Given the description of an element on the screen output the (x, y) to click on. 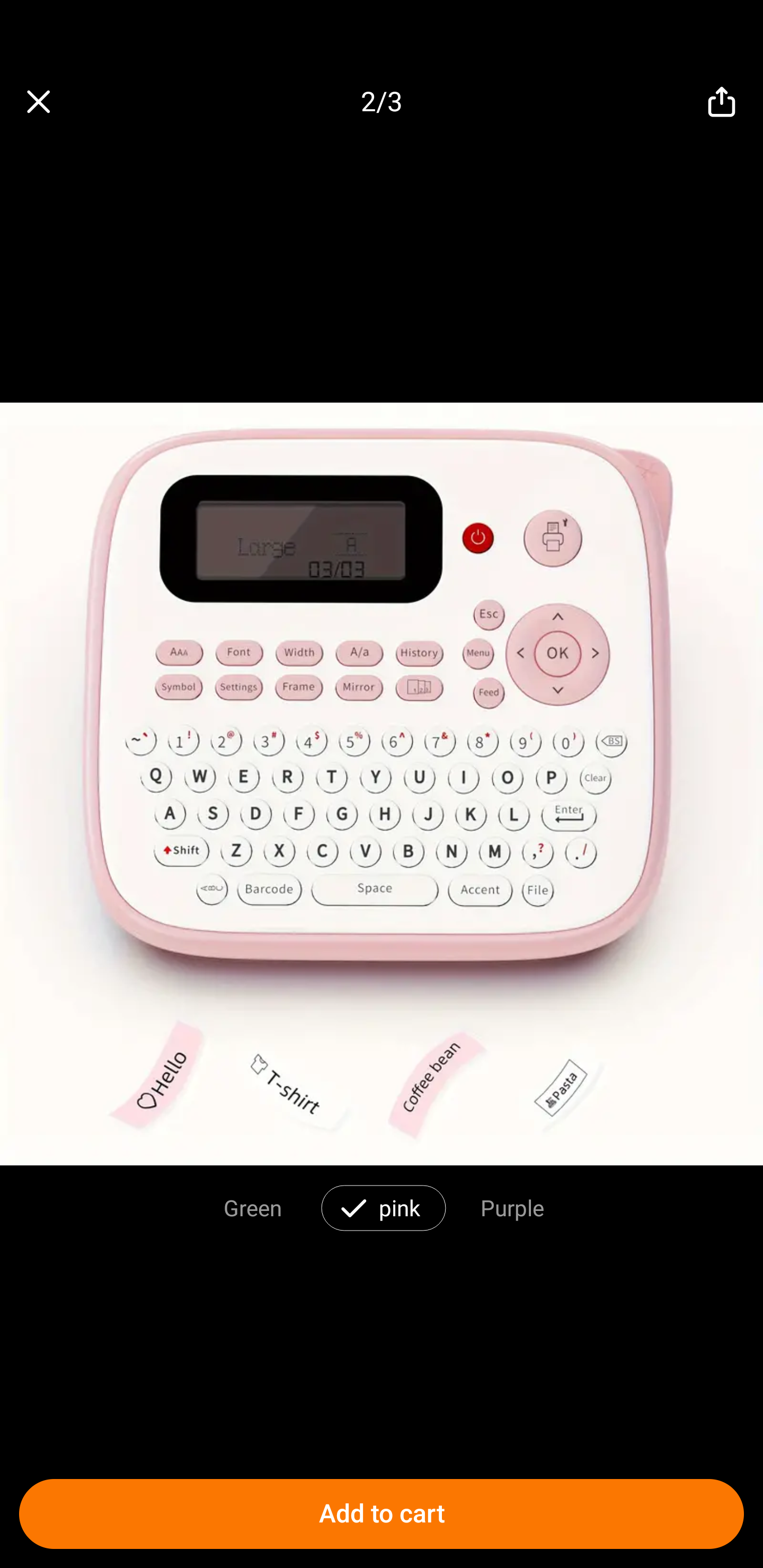
share (721, 101)
Green (252, 1207)
pink (399, 1207)
Purple (512, 1207)
Add to cart (381, 1513)
